Given the description of an element on the screen output the (x, y) to click on. 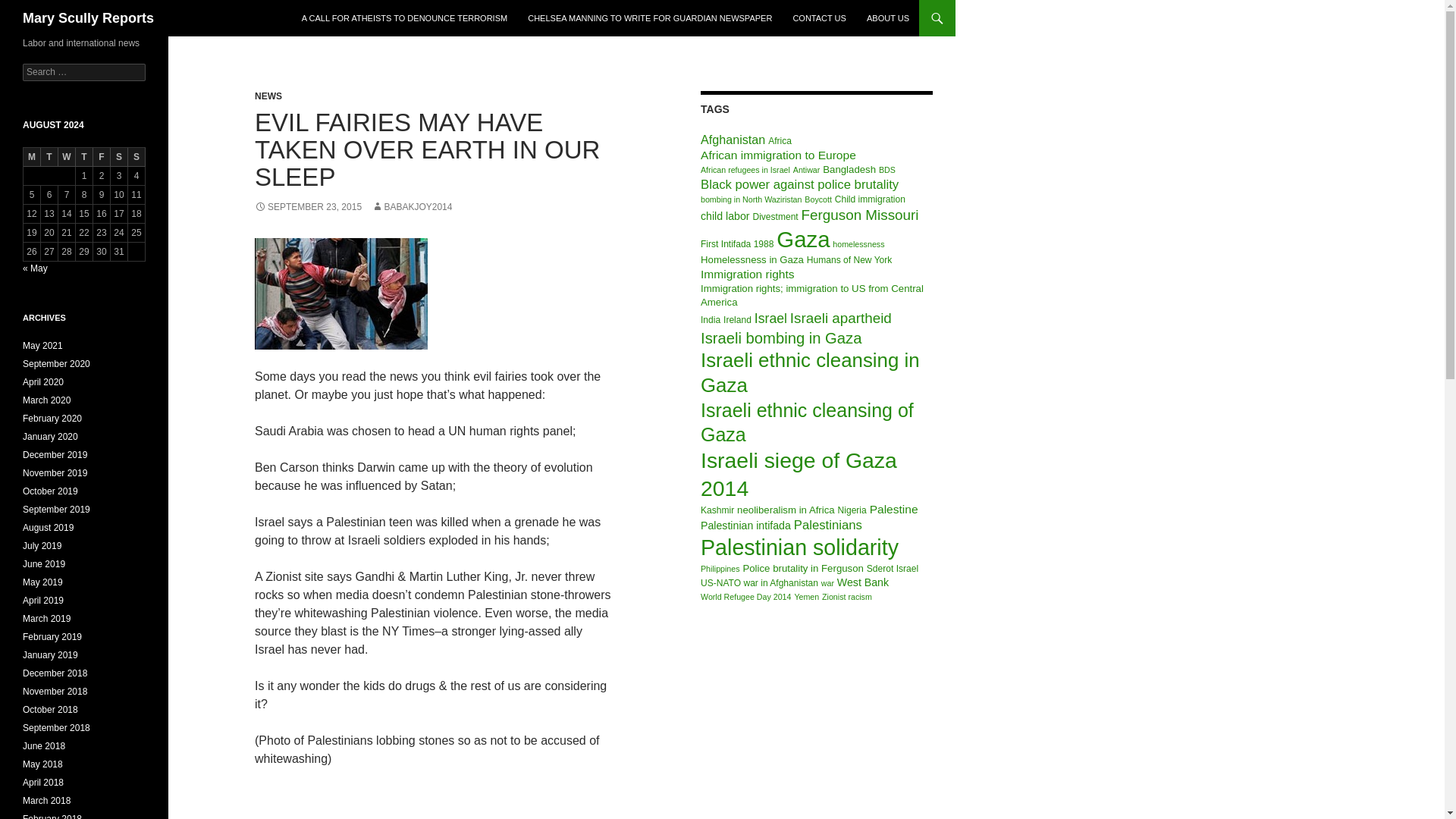
Friday (101, 157)
A CALL FOR ATHEISTS TO DENOUNCE TERRORISM (404, 18)
Black power against police brutality (799, 184)
BDS (887, 169)
Israeli apartheid (840, 317)
African refugees in Israel (745, 169)
ABOUT US (887, 18)
Mary Scully Reports (88, 18)
CONTACT US (819, 18)
bombing in North Waziristan (751, 198)
